Given the description of an element on the screen output the (x, y) to click on. 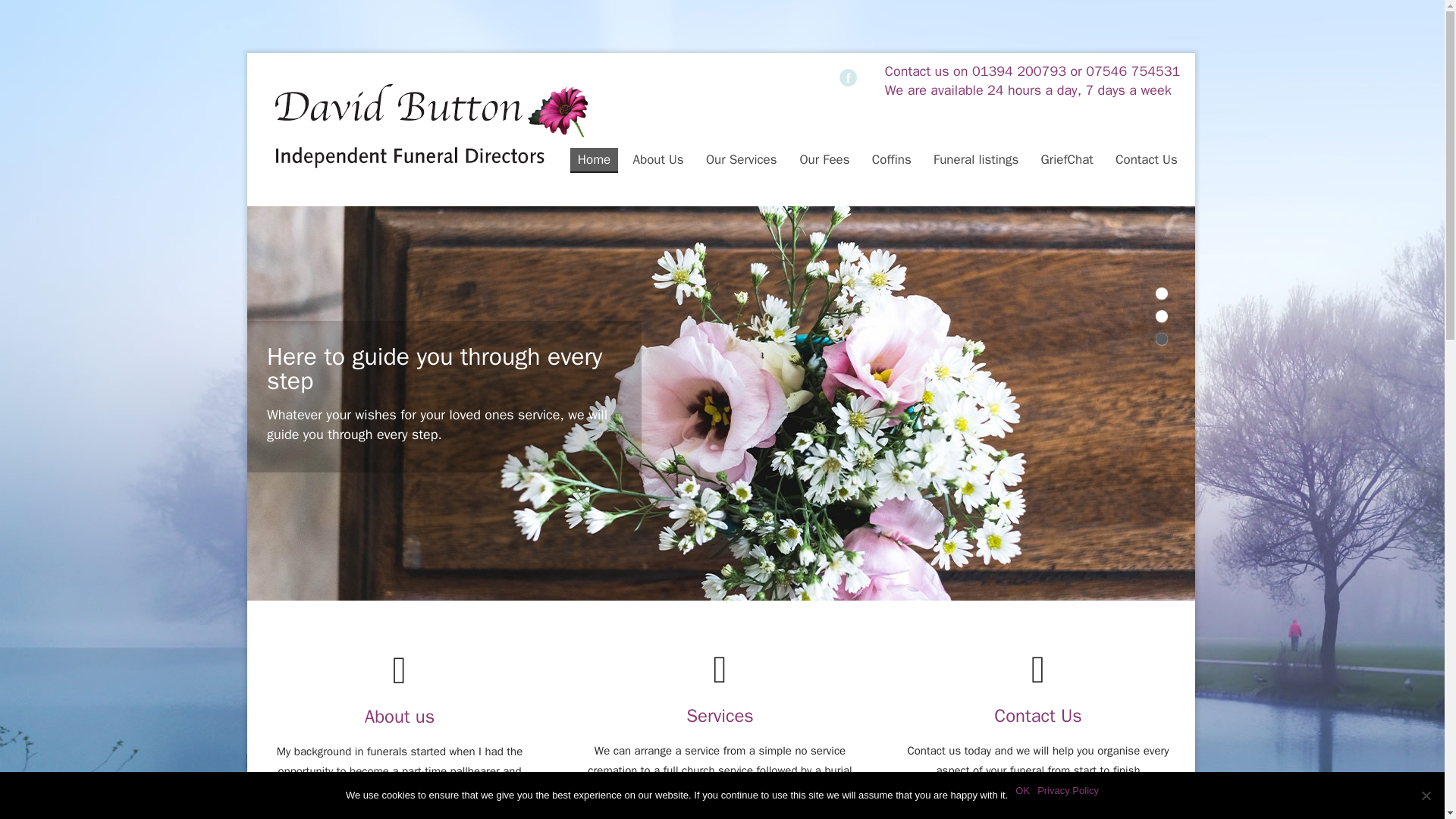
Coffins (891, 159)
Funeral listings (976, 159)
No (1425, 795)
About Us (657, 159)
About us (399, 736)
Home (593, 160)
Our Services (741, 159)
GriefChat (1066, 159)
Contact Us (1146, 159)
Our Fees (824, 159)
Facebook (848, 77)
